Given the description of an element on the screen output the (x, y) to click on. 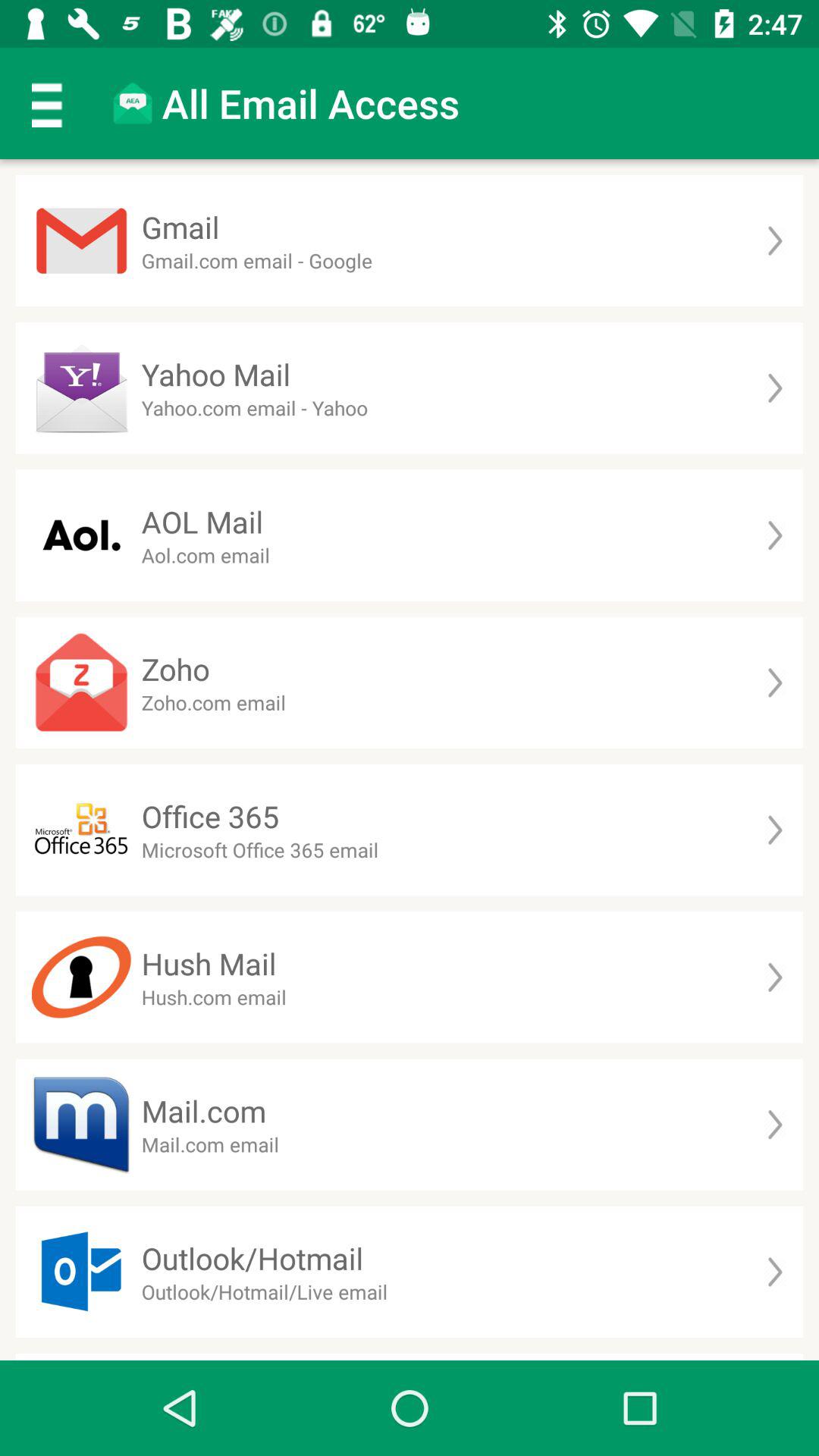
swipe to aol mail app (202, 521)
